Given the description of an element on the screen output the (x, y) to click on. 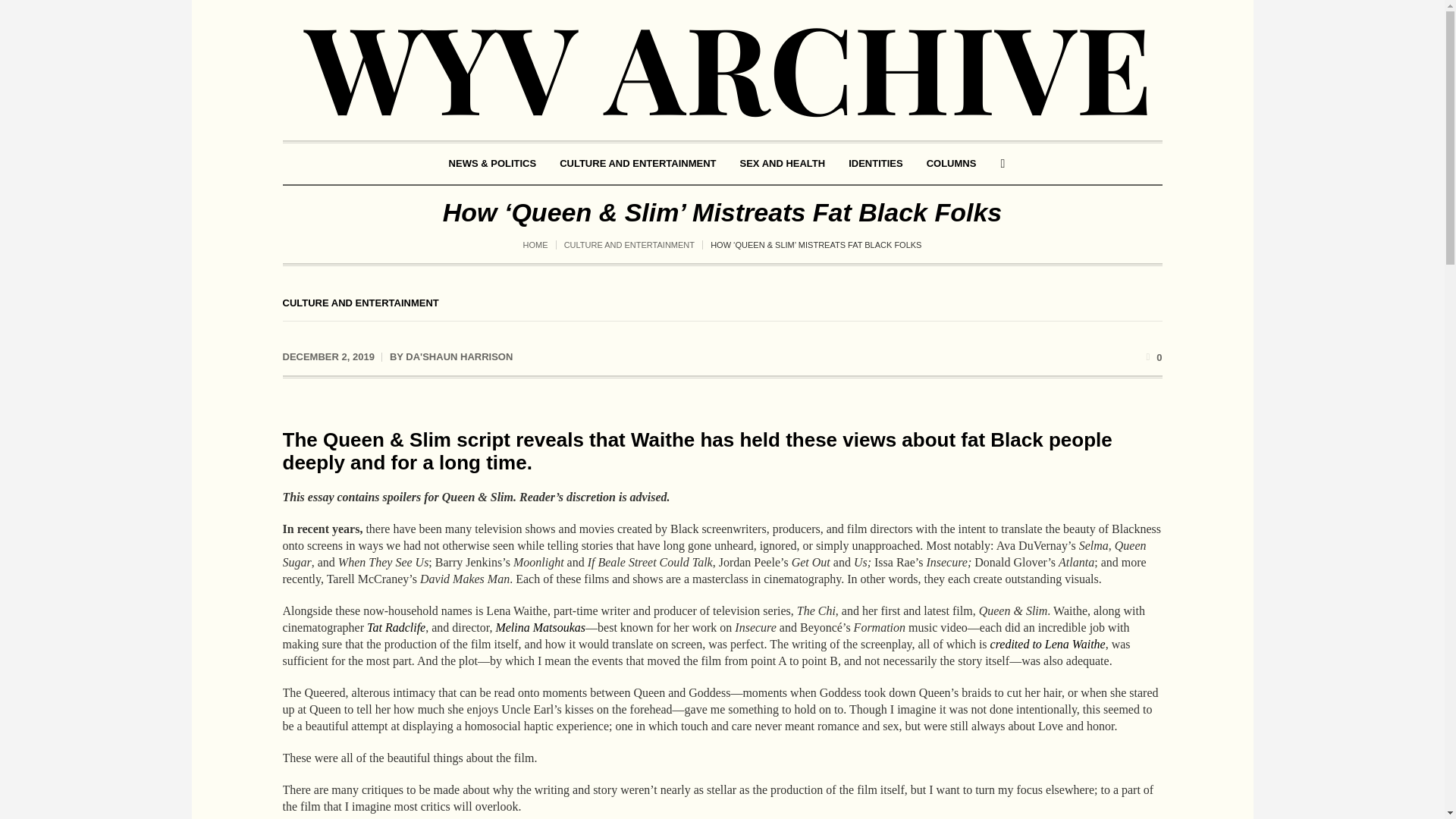
CULTURE AND ENTERTAINMENT (360, 302)
IDENTITIES (875, 163)
HOME (535, 244)
CULTURE AND ENTERTAINMENT (637, 163)
SEX AND HEALTH (781, 163)
December 2, 2019 (328, 356)
COLUMNS (951, 163)
Posts by Da'Shaun Harrison (459, 356)
CULTURE AND ENTERTAINMENT (629, 244)
